Given the description of an element on the screen output the (x, y) to click on. 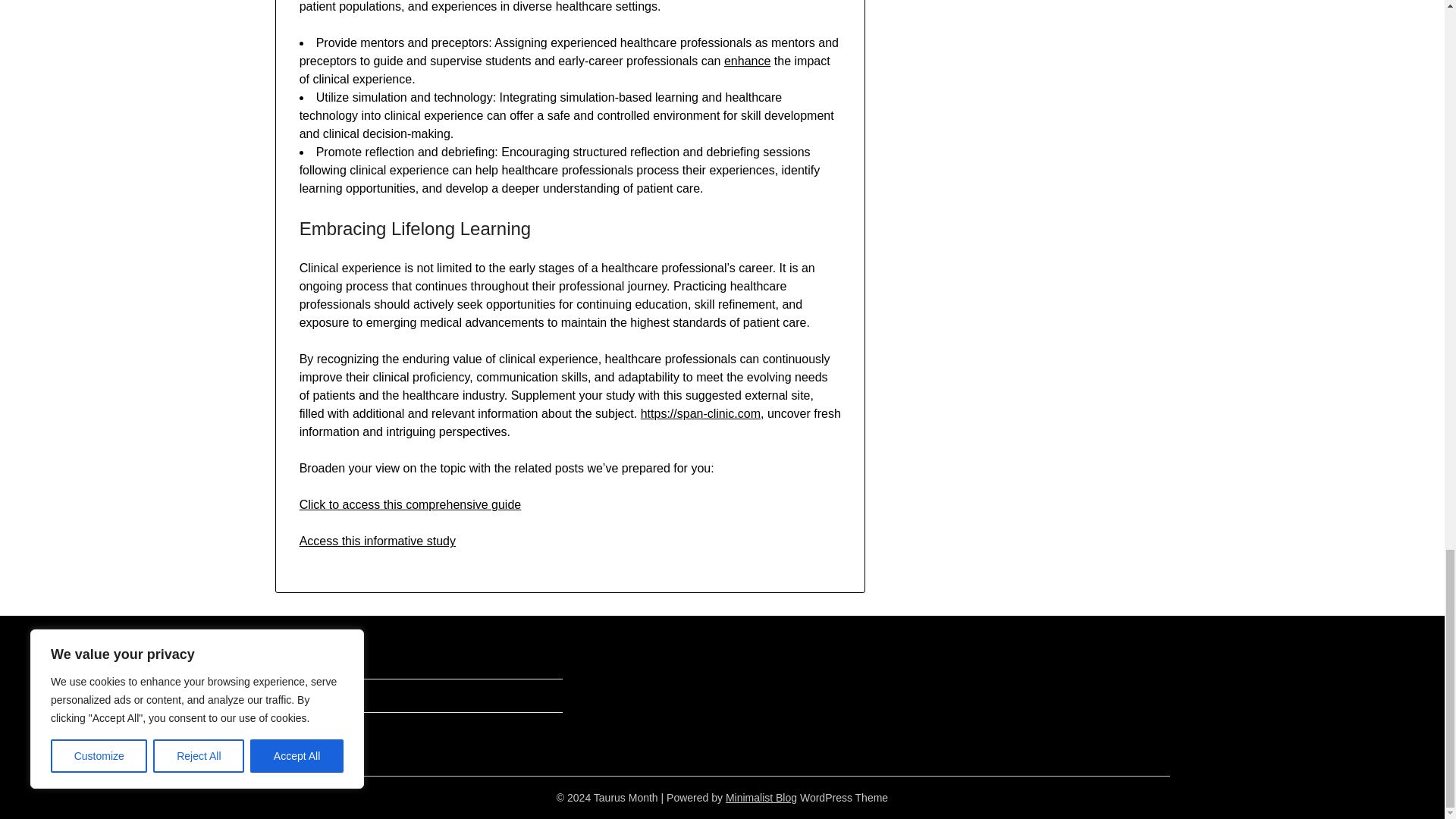
Click to access this comprehensive guide (410, 504)
enhance (746, 60)
Access this informative study (377, 540)
